Given the description of an element on the screen output the (x, y) to click on. 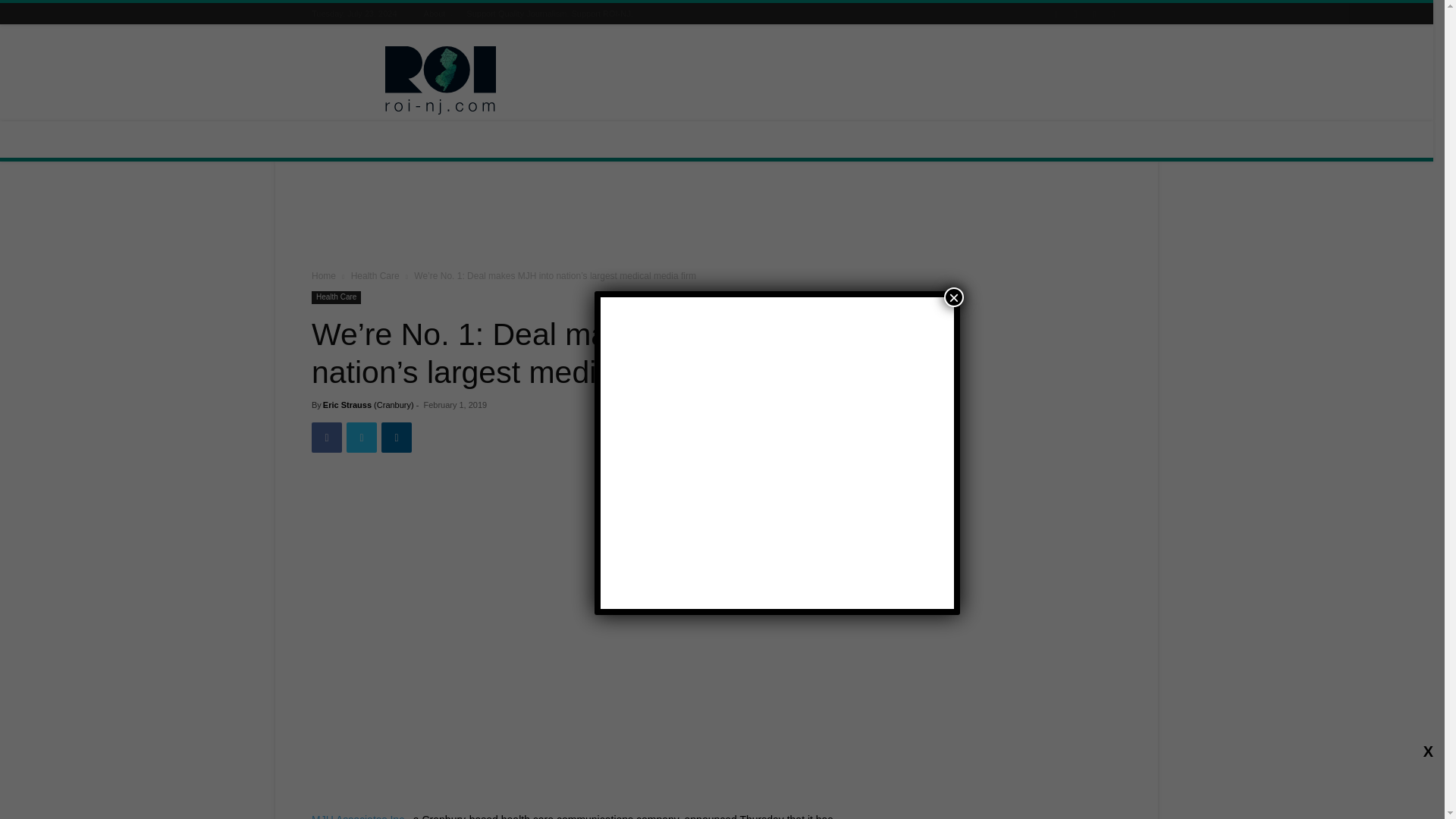
View all posts in Health Care (374, 276)
Twitter (361, 437)
Linkedin (396, 437)
3rd party ad content (845, 79)
Facebook (326, 437)
3rd party ad content (716, 218)
